Given the description of an element on the screen output the (x, y) to click on. 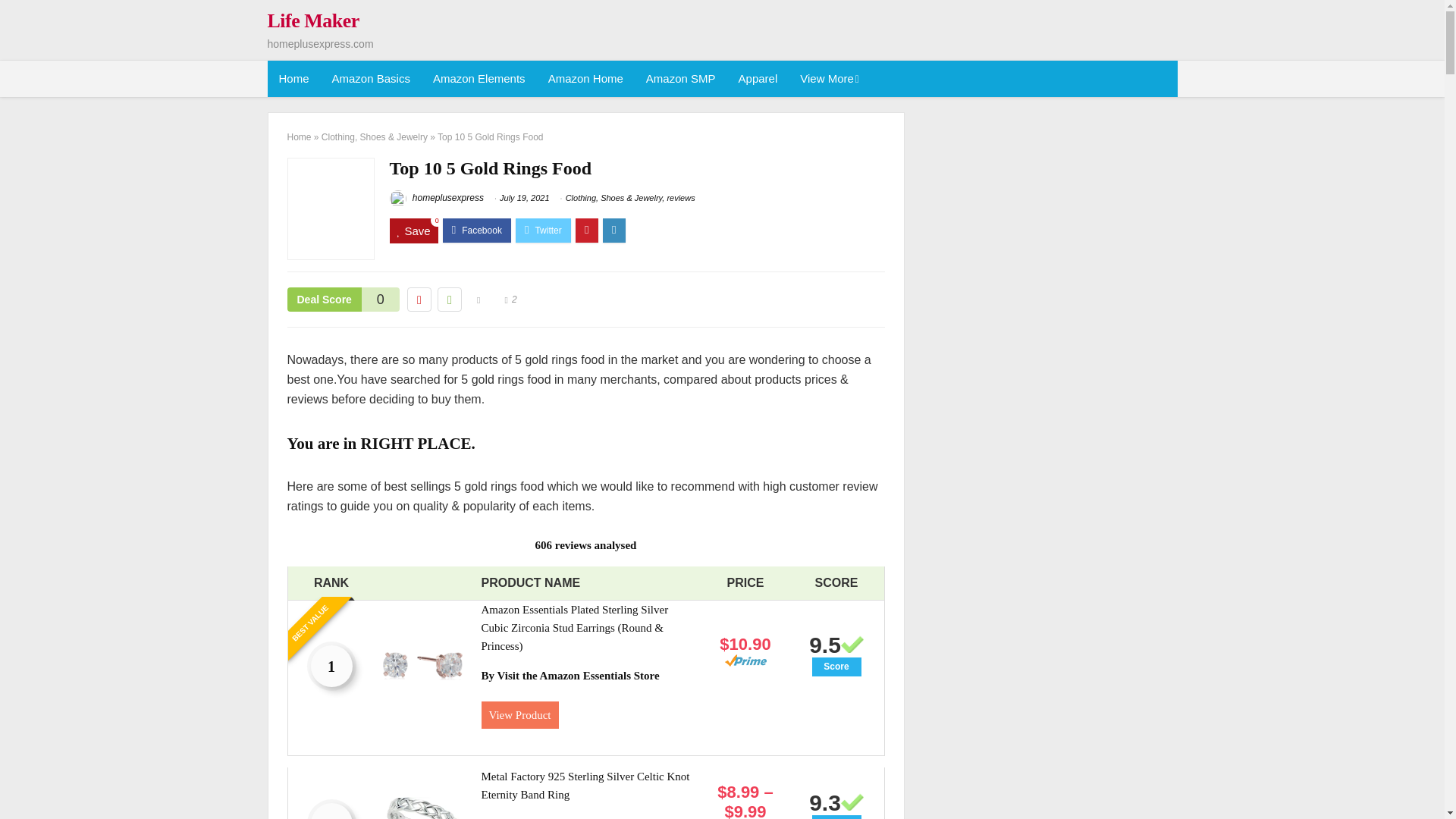
View More (828, 78)
Apparel (757, 78)
Amazon SMP (680, 78)
Amazon Basics (371, 78)
Amazon Home (585, 78)
Home (293, 78)
Vote down (418, 299)
Amazon Elements (479, 78)
View all posts in reviews (680, 197)
